Given the description of an element on the screen output the (x, y) to click on. 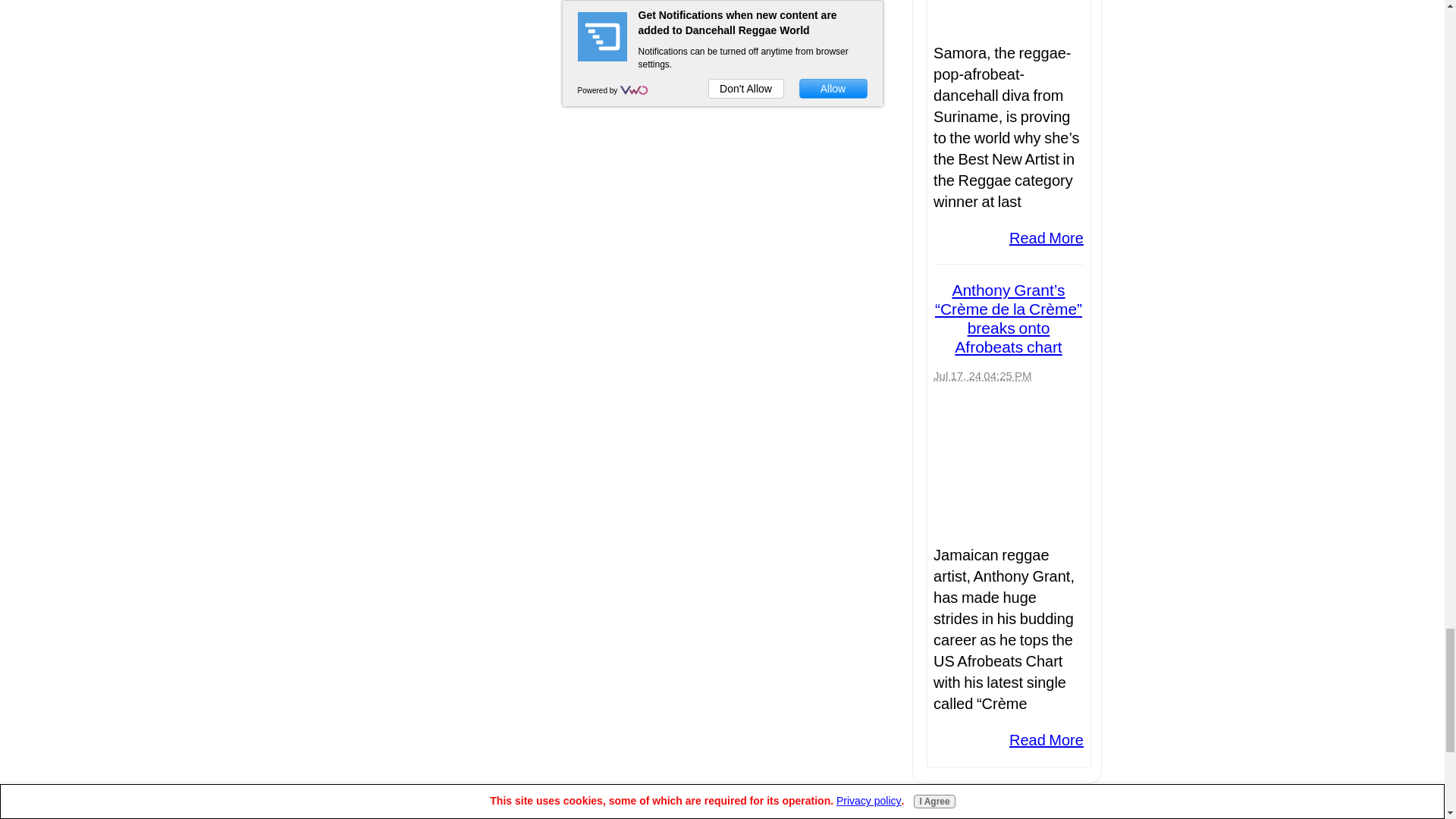
2024-07-17T16:25:32-0400 (981, 375)
